Given the description of an element on the screen output the (x, y) to click on. 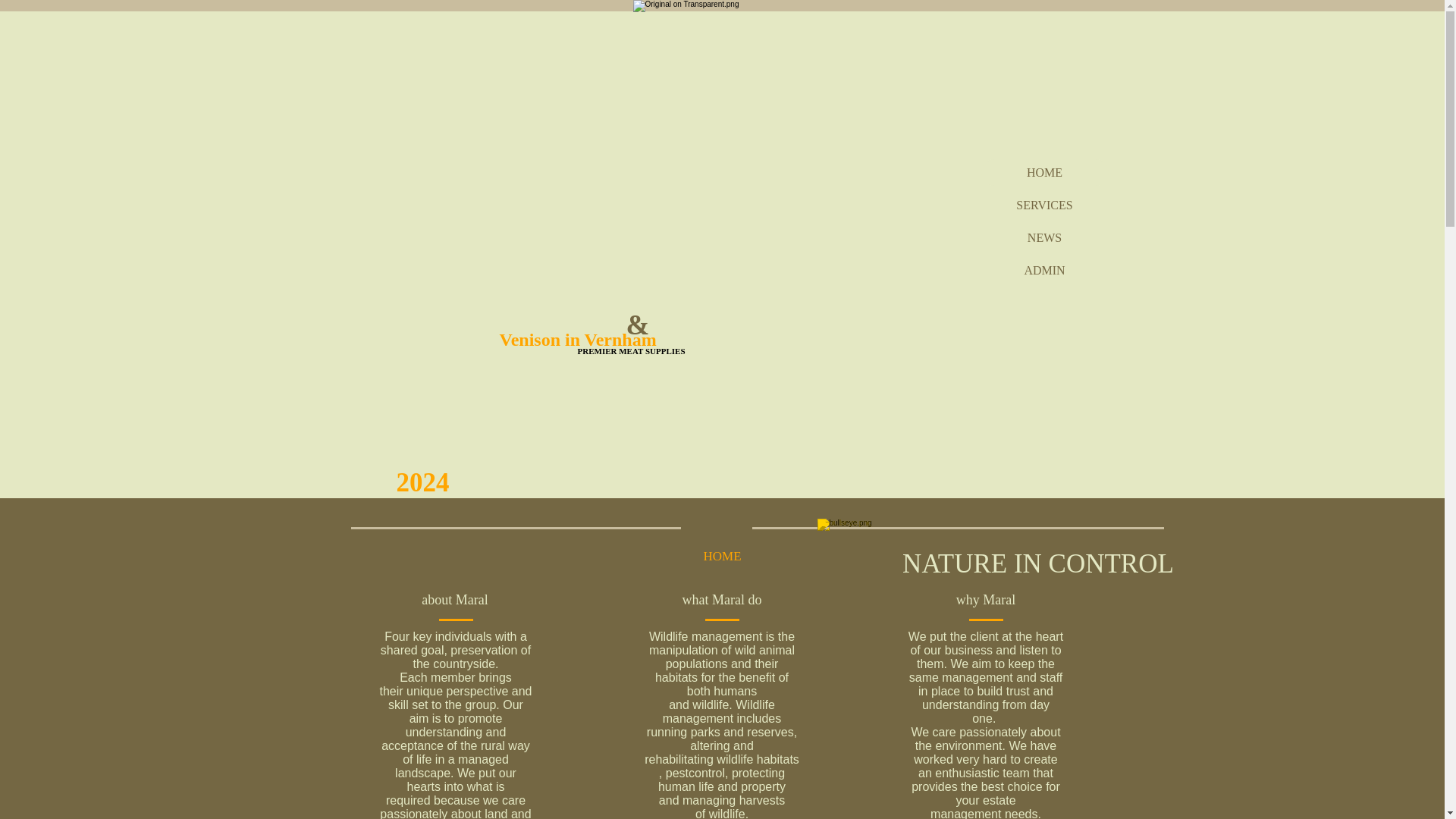
ADMIN (1044, 270)
HOME (1044, 171)
SERVICES (1044, 204)
NEWS (1044, 237)
